Given the description of an element on the screen output the (x, y) to click on. 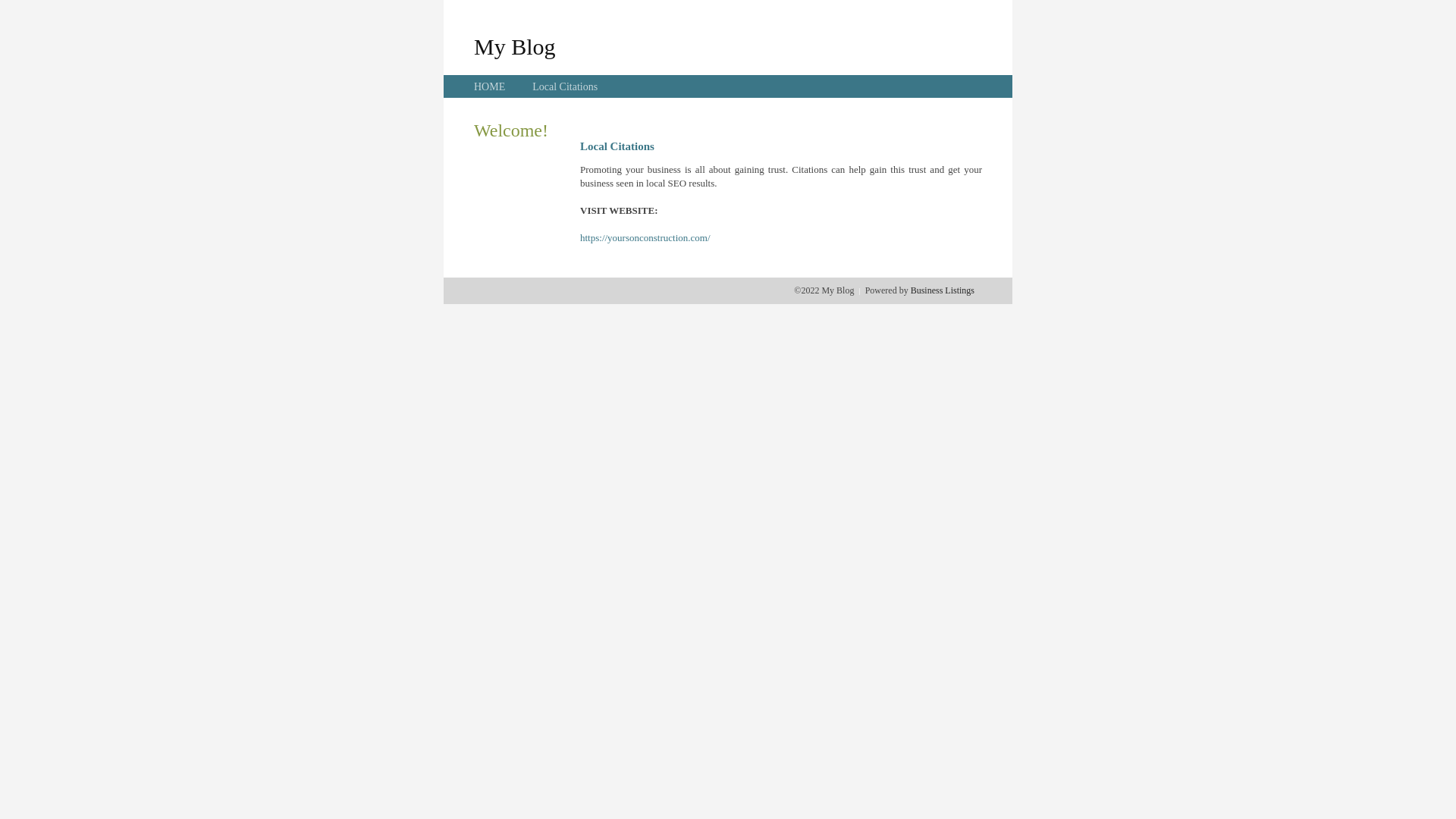
https://yoursonconstruction.com/ Element type: text (645, 237)
My Blog Element type: text (514, 46)
Local Citations Element type: text (564, 86)
Business Listings Element type: text (942, 290)
HOME Element type: text (489, 86)
